Given the description of an element on the screen output the (x, y) to click on. 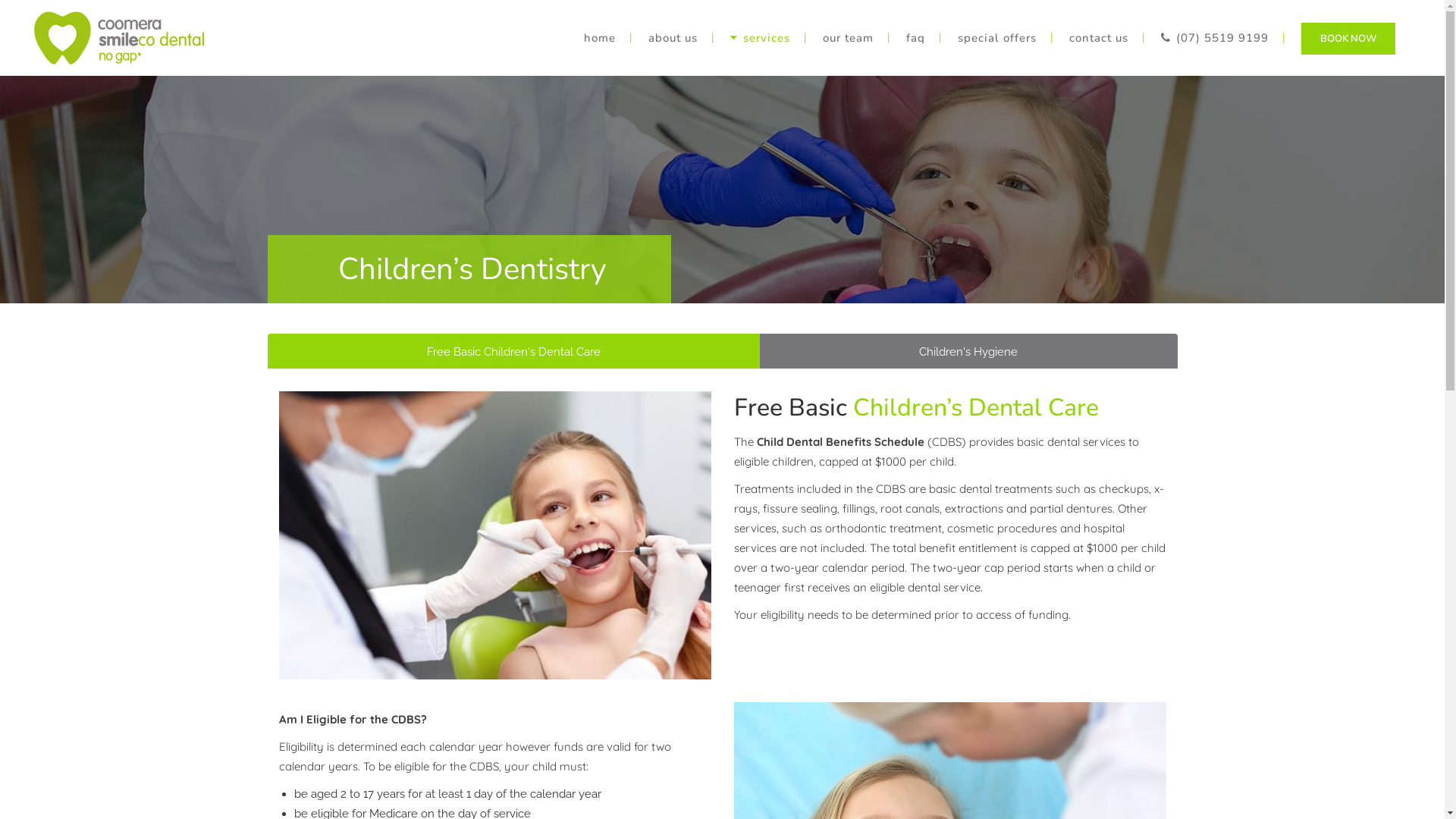
Free Basic Children's Dental Care Element type: text (512, 350)
BOOK NOW Element type: text (1348, 37)
special offers Element type: text (996, 37)
home Element type: text (599, 37)
contact us Element type: text (1098, 37)
faq Element type: text (915, 37)
about us Element type: text (672, 37)
BOOK NOW Element type: text (1348, 38)
(07) 5519 9199 Element type: text (1214, 37)
our team Element type: text (847, 37)
Children's Hygiene Element type: text (968, 350)
services Element type: text (760, 37)
